Given the description of an element on the screen output the (x, y) to click on. 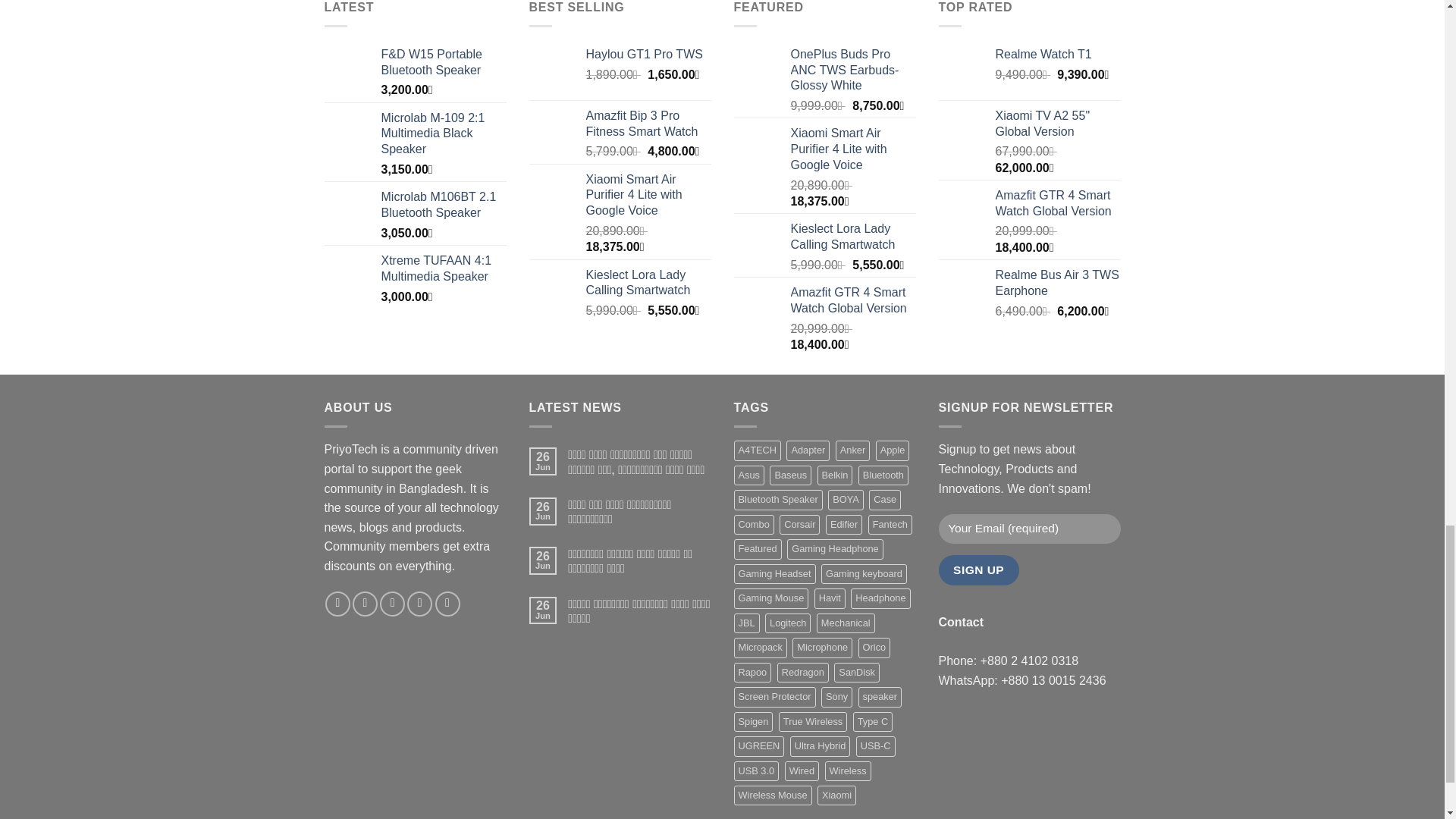
Sign Up (979, 569)
